Given the description of an element on the screen output the (x, y) to click on. 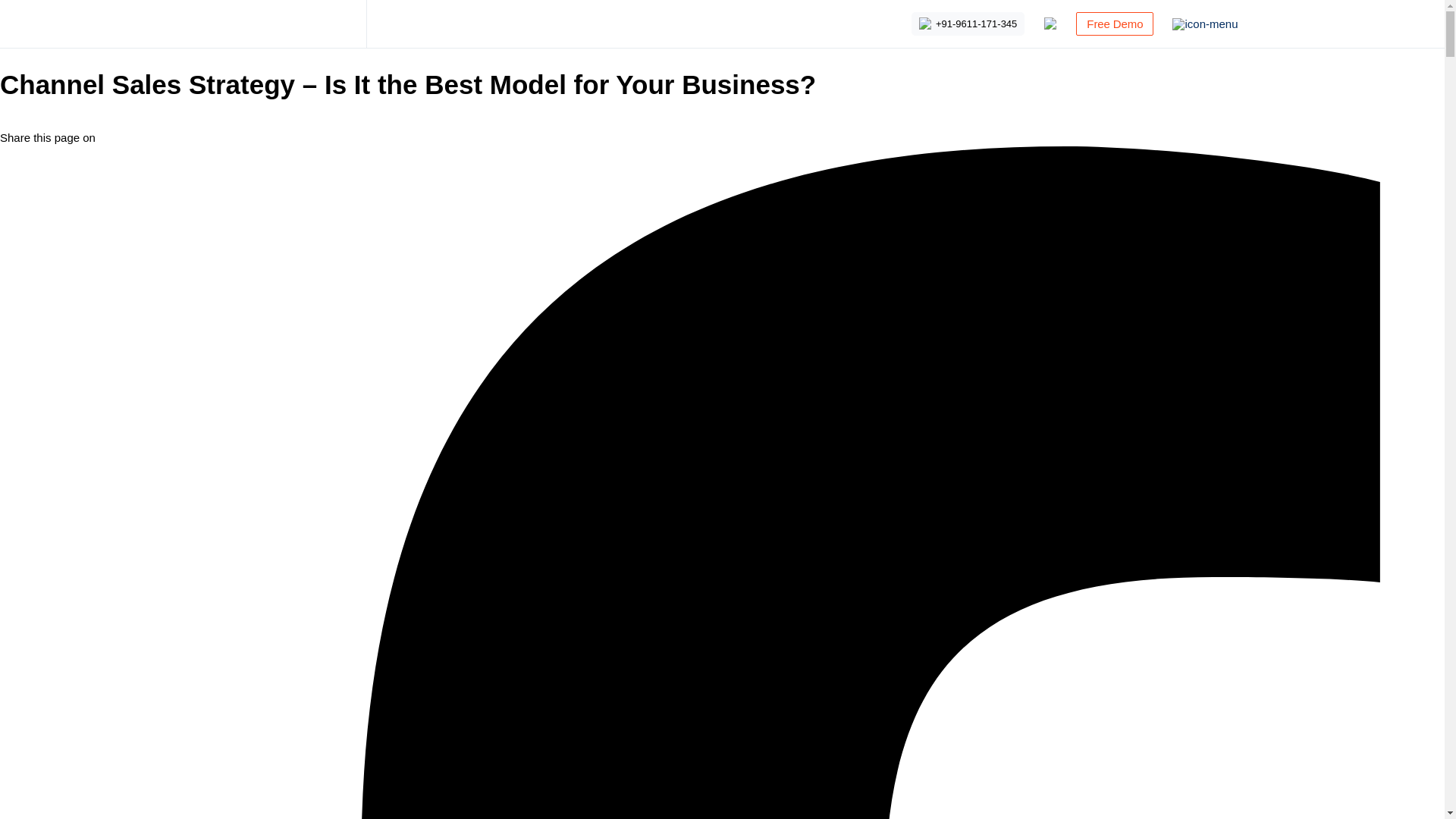
SalesBabu BLOG (275, 27)
SalesBabu BLOG (275, 27)
Free Demo (1114, 24)
